Given the description of an element on the screen output the (x, y) to click on. 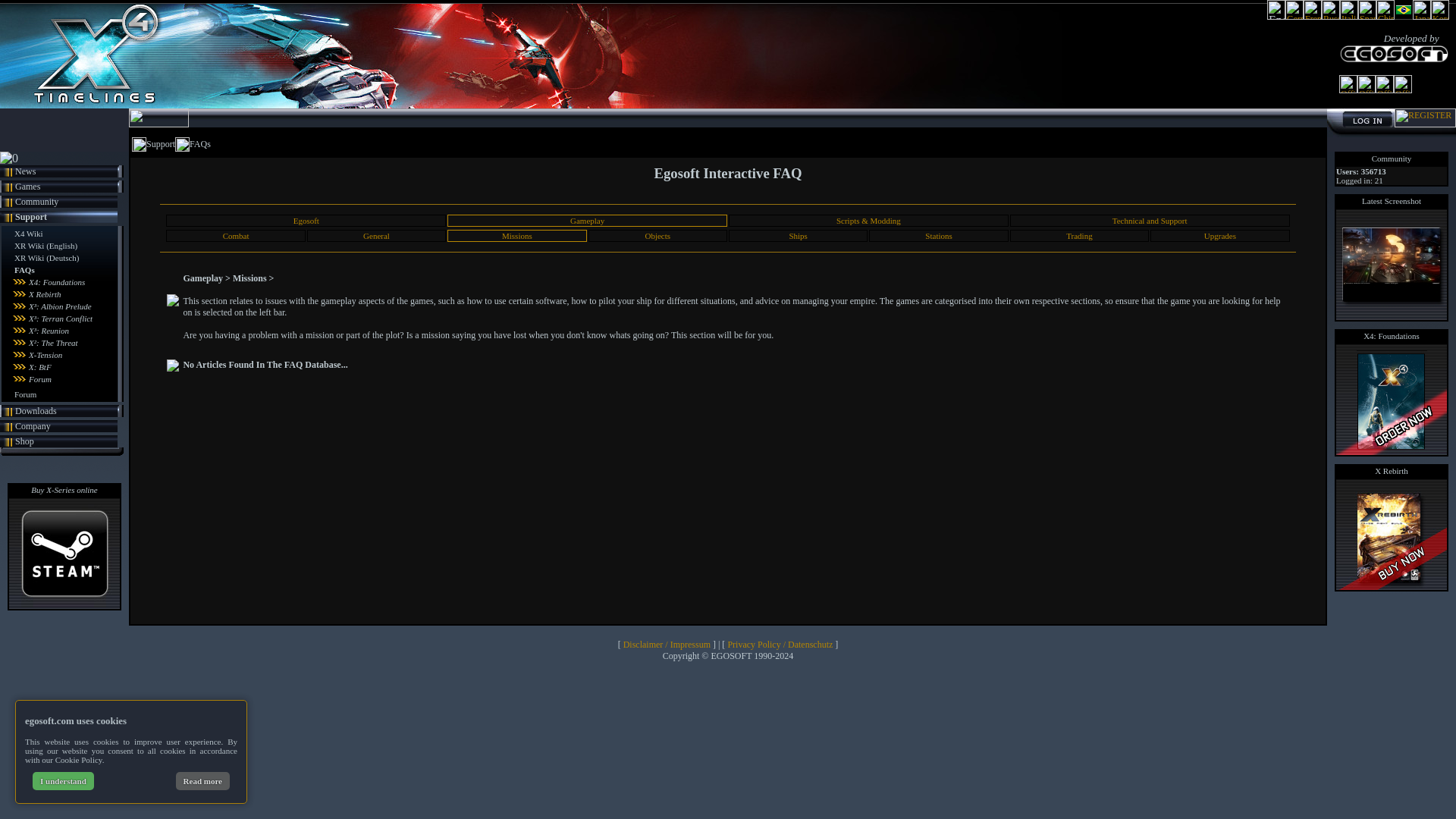
FAQs (24, 269)
X4: Foundations (56, 281)
Brazilian (1403, 16)
X: BtF (39, 366)
X-Tension (45, 354)
News (24, 170)
X Rebirth (45, 293)
Korean (1439, 16)
Gameplay (587, 220)
Forum (39, 379)
Games (27, 185)
French (1312, 16)
Company (32, 425)
Downloads (35, 409)
Shop (23, 439)
